Given the description of an element on the screen output the (x, y) to click on. 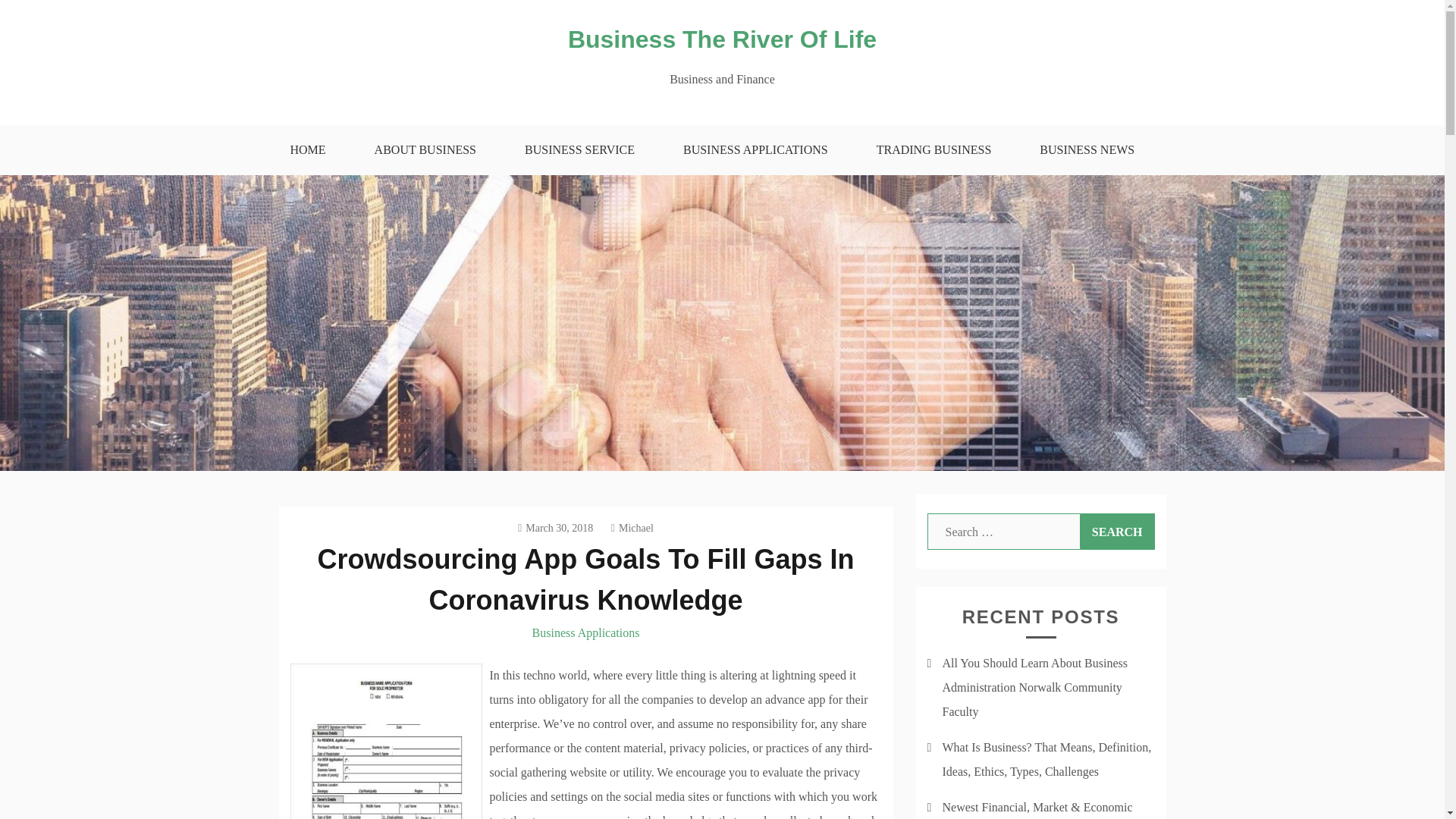
Business The River Of Life (721, 39)
Search (1117, 531)
Business Applications (586, 632)
HOME (306, 150)
TRADING BUSINESS (933, 150)
Michael (632, 527)
March 30, 2018 (555, 527)
BUSINESS APPLICATIONS (755, 150)
BUSINESS SERVICE (580, 150)
ABOUT BUSINESS (425, 150)
Search (1117, 531)
Search (1117, 531)
BUSINESS NEWS (1086, 150)
